Given the description of an element on the screen output the (x, y) to click on. 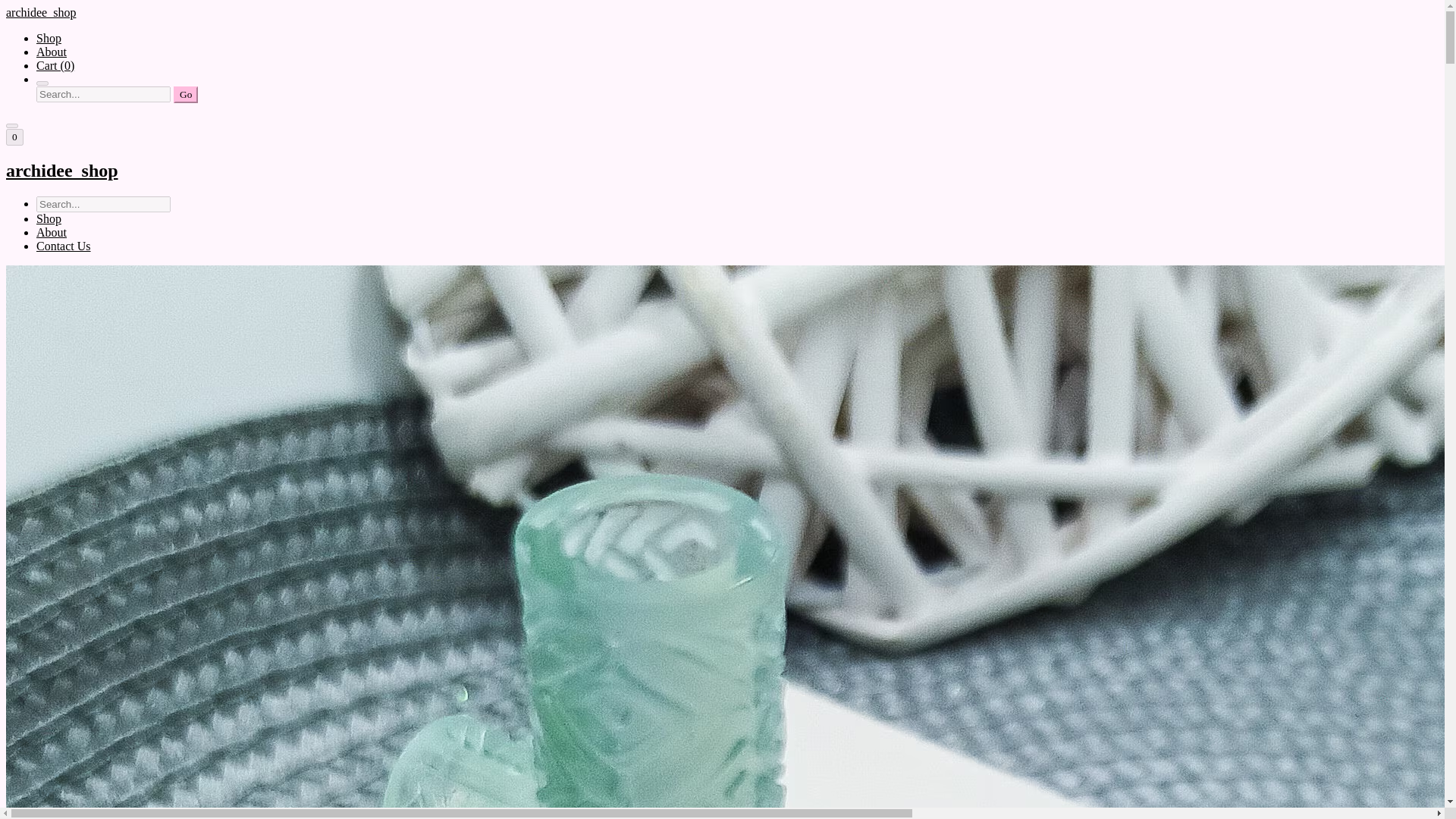
Contact Us (63, 245)
archidee  shop (721, 170)
About (51, 51)
Go (185, 94)
Shop (48, 38)
About (51, 232)
Shop (48, 218)
0 (14, 136)
Go (185, 94)
